Given the description of an element on the screen output the (x, y) to click on. 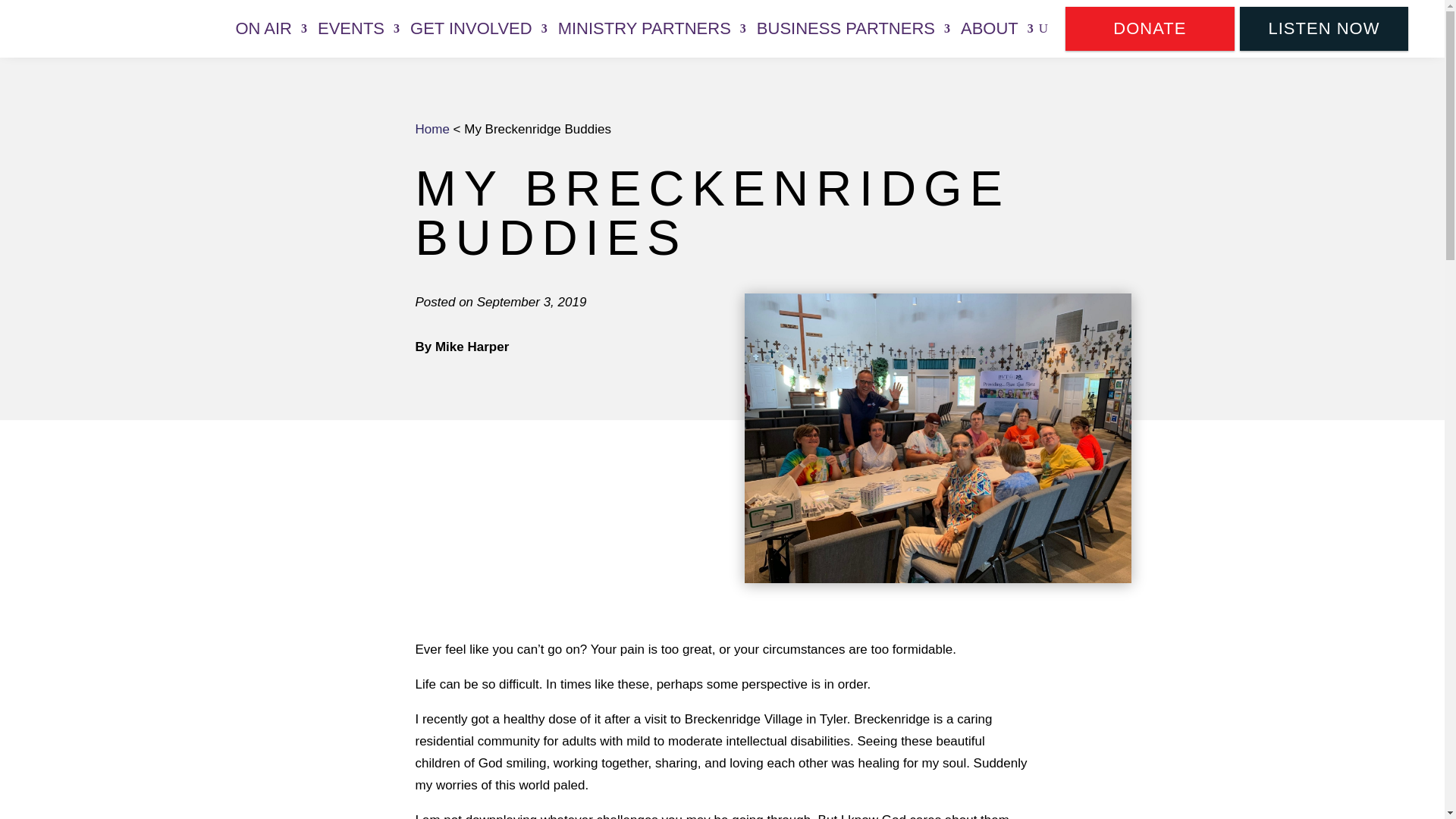
ON AIR (270, 28)
ABOUT (996, 28)
MINISTRY PARTNERS (651, 28)
BUSINESS PARTNERS (853, 28)
GET INVOLVED (478, 28)
EVENTS (357, 28)
My Breckenridge Buddies Heard On Air Blog Featured Image (937, 438)
